Given the description of an element on the screen output the (x, y) to click on. 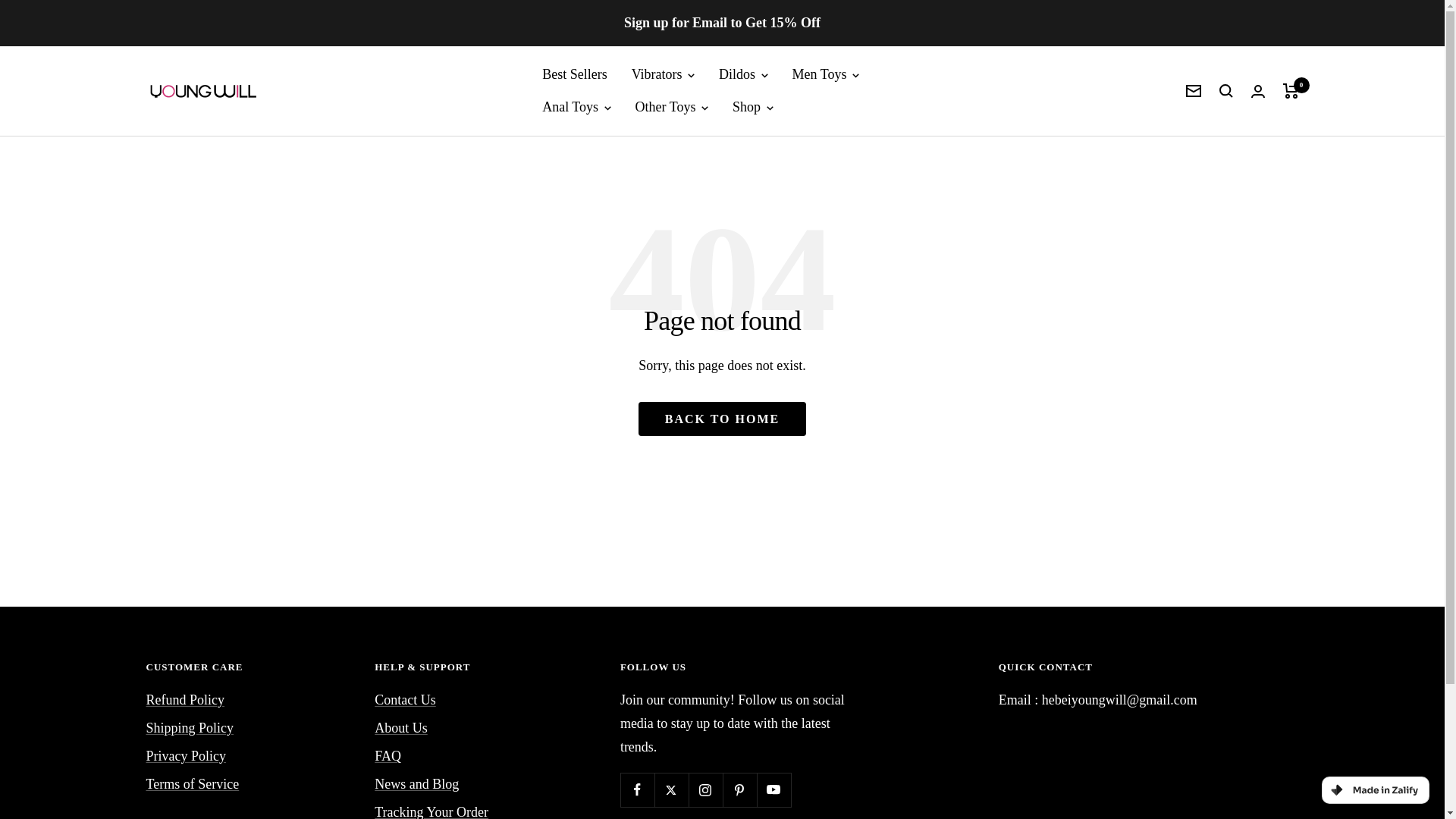
Terms of Service (191, 784)
Refund Policy (184, 699)
hebeiyoungwill (202, 91)
Contact Us (404, 699)
Best Sellers (574, 74)
Privacy Policy (185, 756)
BACK TO HOME (722, 418)
News and Blog (416, 784)
Shipping Policy (188, 728)
Newsletter (1193, 91)
